Given the description of an element on the screen output the (x, y) to click on. 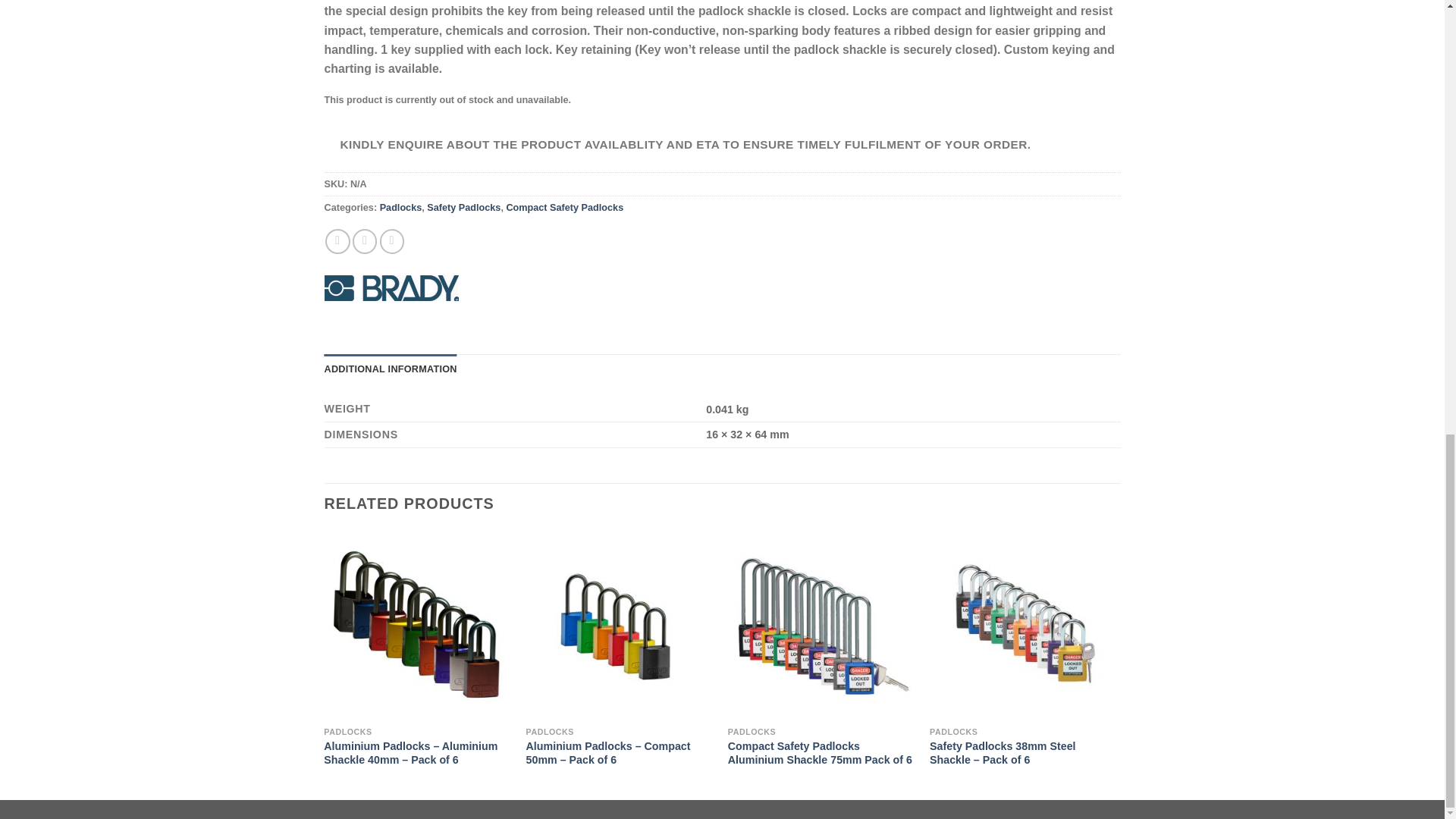
Brady (391, 288)
Share on LinkedIn (392, 241)
Share on Facebook (337, 241)
Email to a Friend (364, 241)
